Given the description of an element on the screen output the (x, y) to click on. 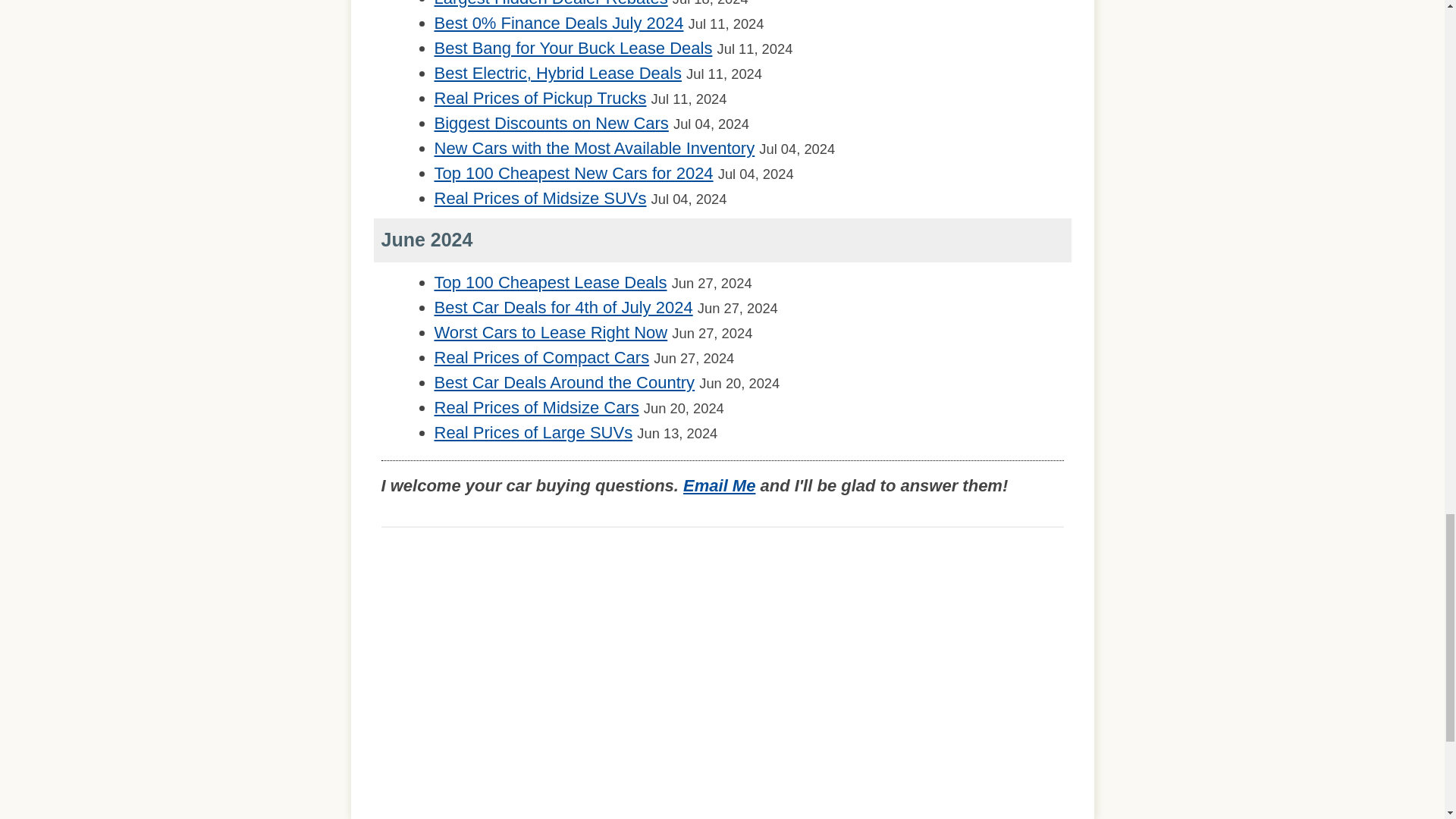
Best Car Deals for 4th of July 2024 (563, 307)
Largest Hidden Dealer Rebates (549, 3)
Best Bang for Your Buck Lease Deals (572, 47)
Real Prices of Large SUVs (532, 432)
Top 100 Cheapest New Cars for 2024 (573, 172)
Best Car Deals Around the Country (563, 382)
Real Prices of Midsize SUVs (539, 198)
Biggest Discounts on New Cars (550, 122)
Worst Cars to Lease Right Now (549, 332)
Real Prices of Pickup Trucks (539, 97)
Top 100 Cheapest Lease Deals (549, 281)
Real Prices of Compact Cars (541, 357)
Real Prices of Midsize Cars (536, 407)
New Cars with the Most Available Inventory (593, 148)
Best Electric, Hybrid Lease Deals (557, 72)
